Given the description of an element on the screen output the (x, y) to click on. 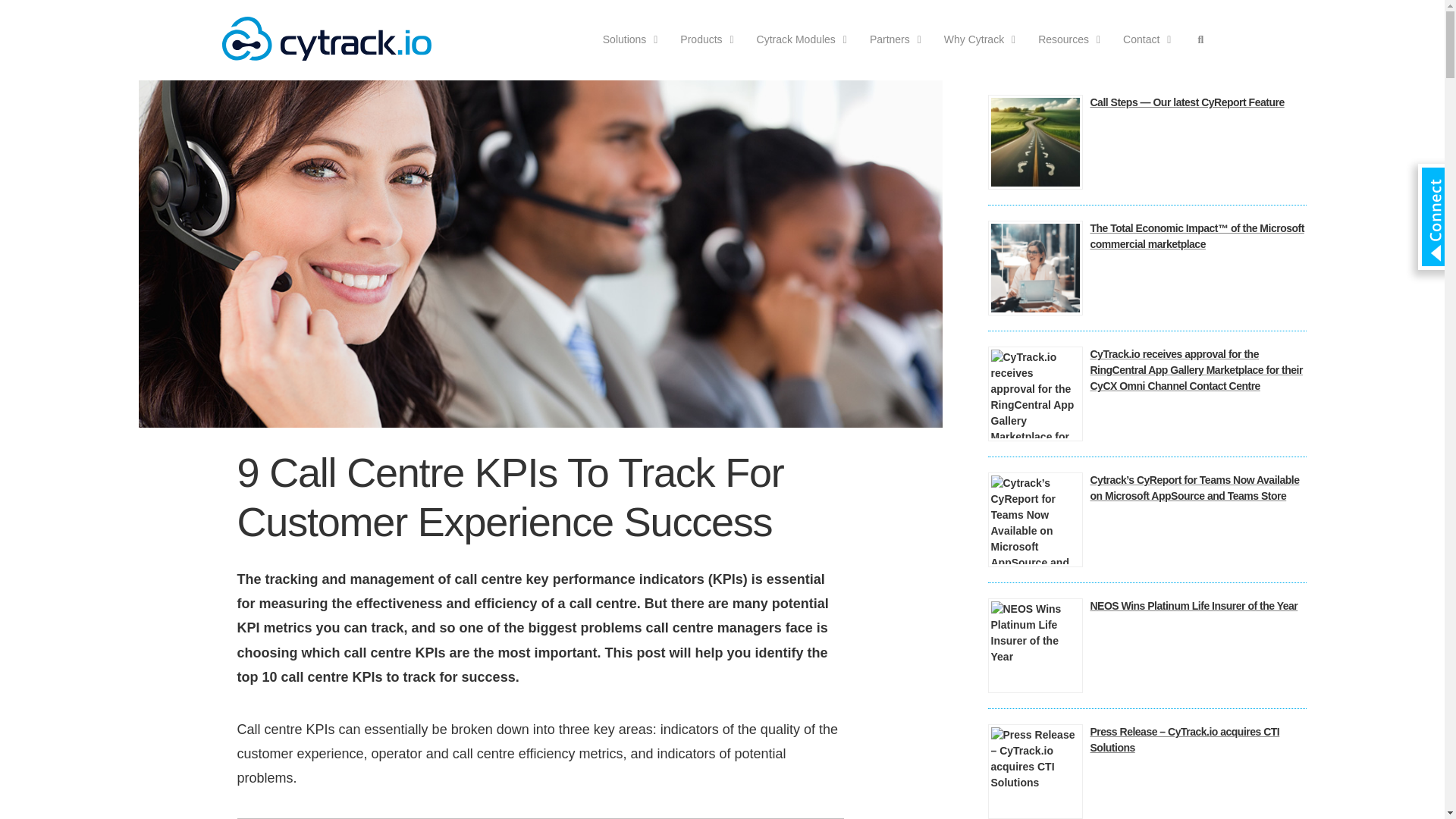
Products (703, 39)
Solutions (626, 39)
